Given the description of an element on the screen output the (x, y) to click on. 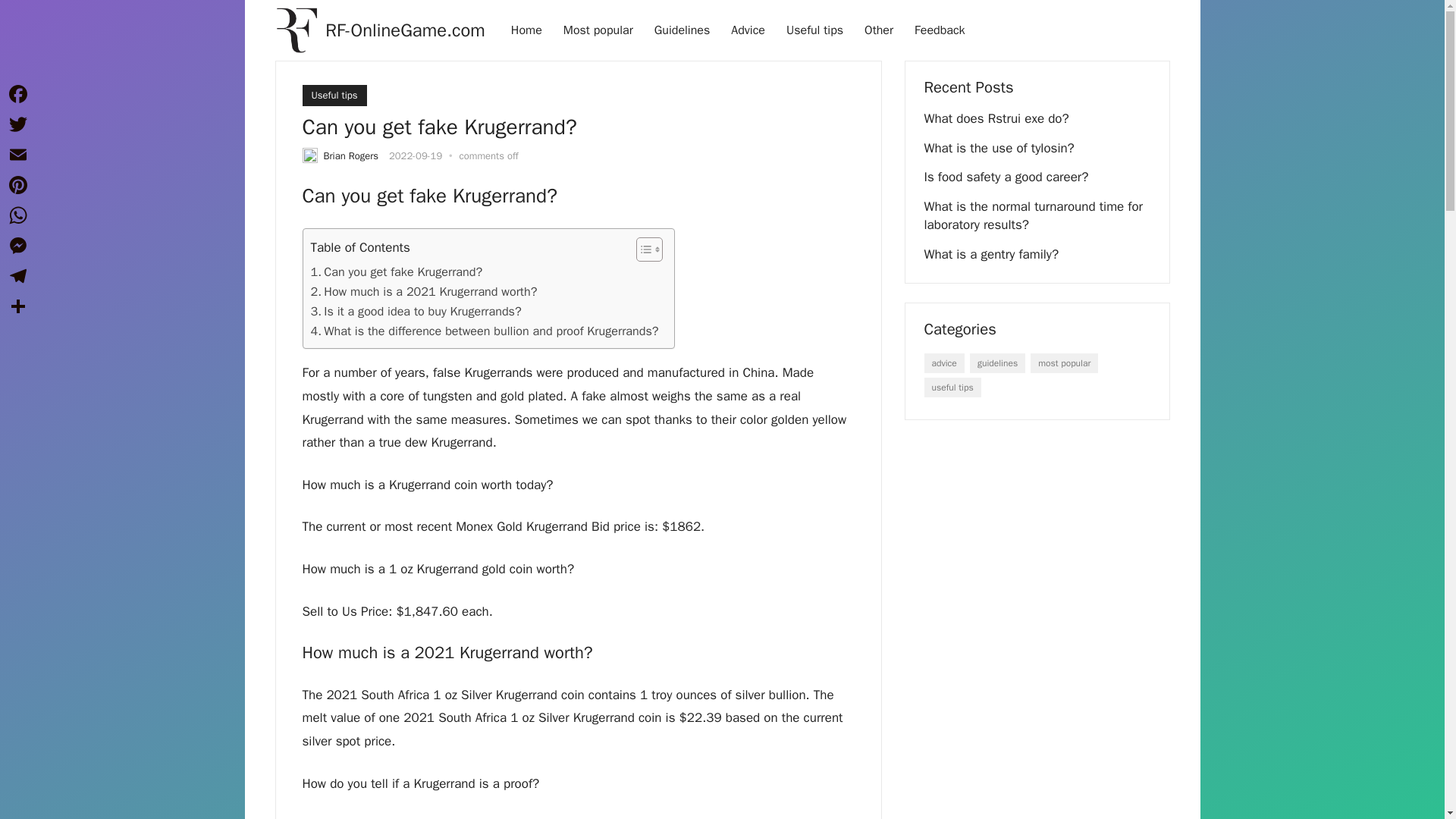
Most popular (598, 30)
Can you get fake Krugerrand? (397, 271)
How much is a 2021 Krugerrand worth? (424, 291)
Posts by Brian Rogers (350, 155)
Useful tips (814, 30)
Is it a good idea to buy Krugerrands? (416, 311)
Is it a good idea to buy Krugerrands? (416, 311)
Guidelines (681, 30)
Can you get fake Krugerrand? (397, 271)
Other (878, 30)
How much is a 2021 Krugerrand worth? (424, 291)
Advice (748, 30)
Feedback (939, 30)
